Given the description of an element on the screen output the (x, y) to click on. 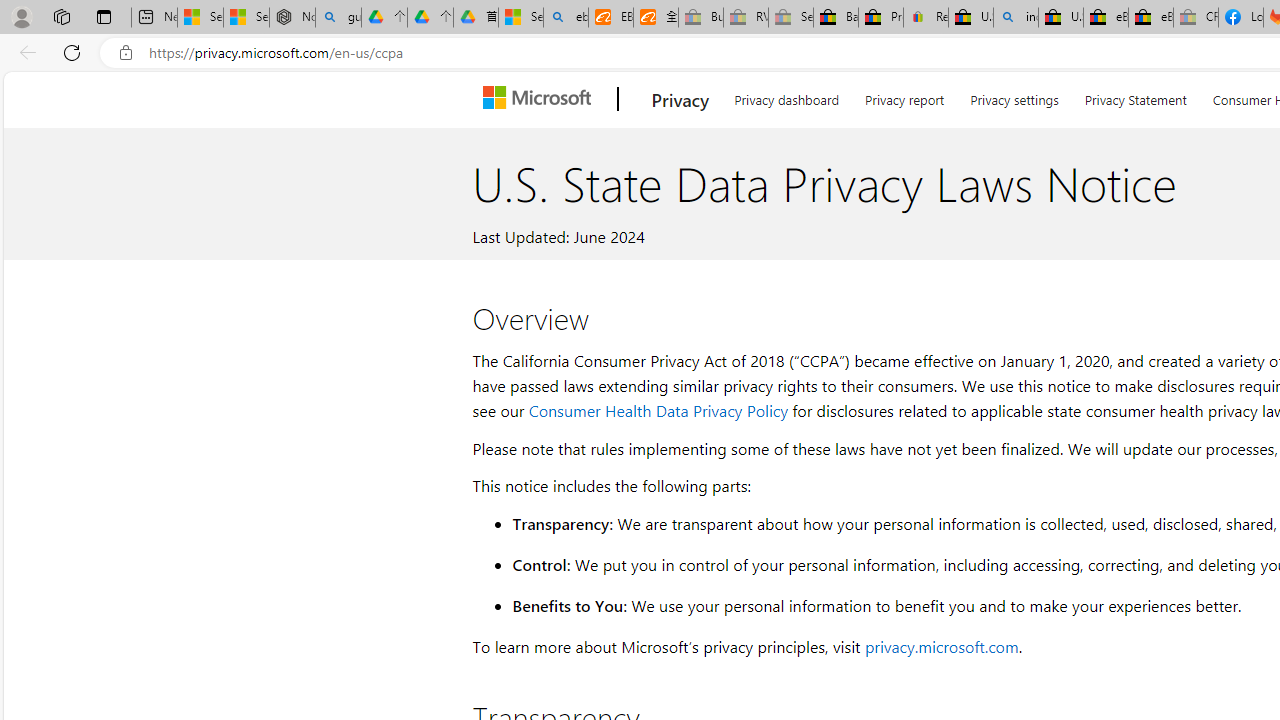
Privacy report (904, 96)
privacy.microsoft.com (941, 645)
Privacy settings (1014, 96)
Privacy Statement (1135, 96)
